Given the description of an element on the screen output the (x, y) to click on. 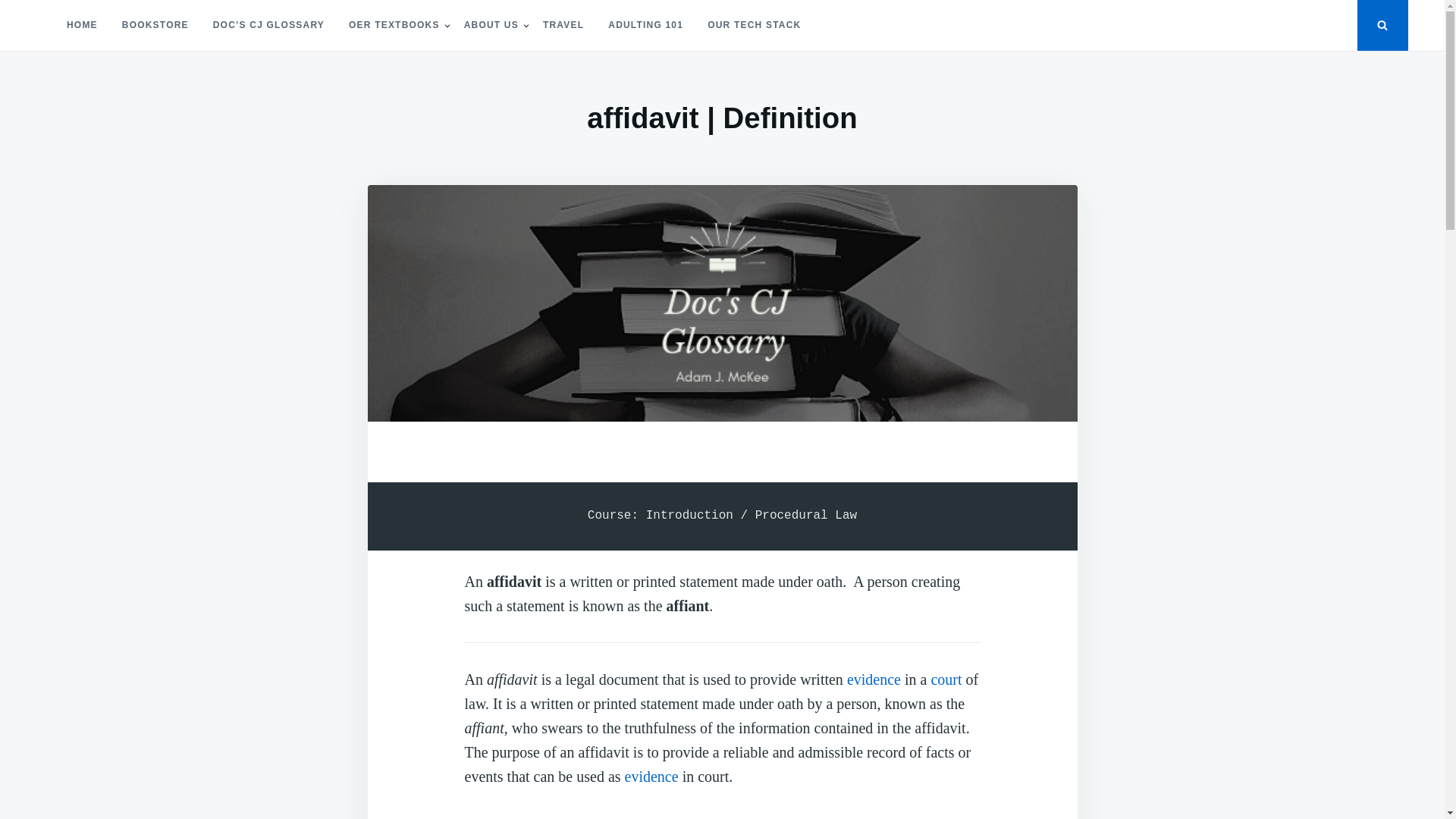
ABOUT US (491, 25)
HOME (82, 25)
OER TEXTBOOKS (393, 25)
BOOKSTORE (155, 25)
